Given the description of an element on the screen output the (x, y) to click on. 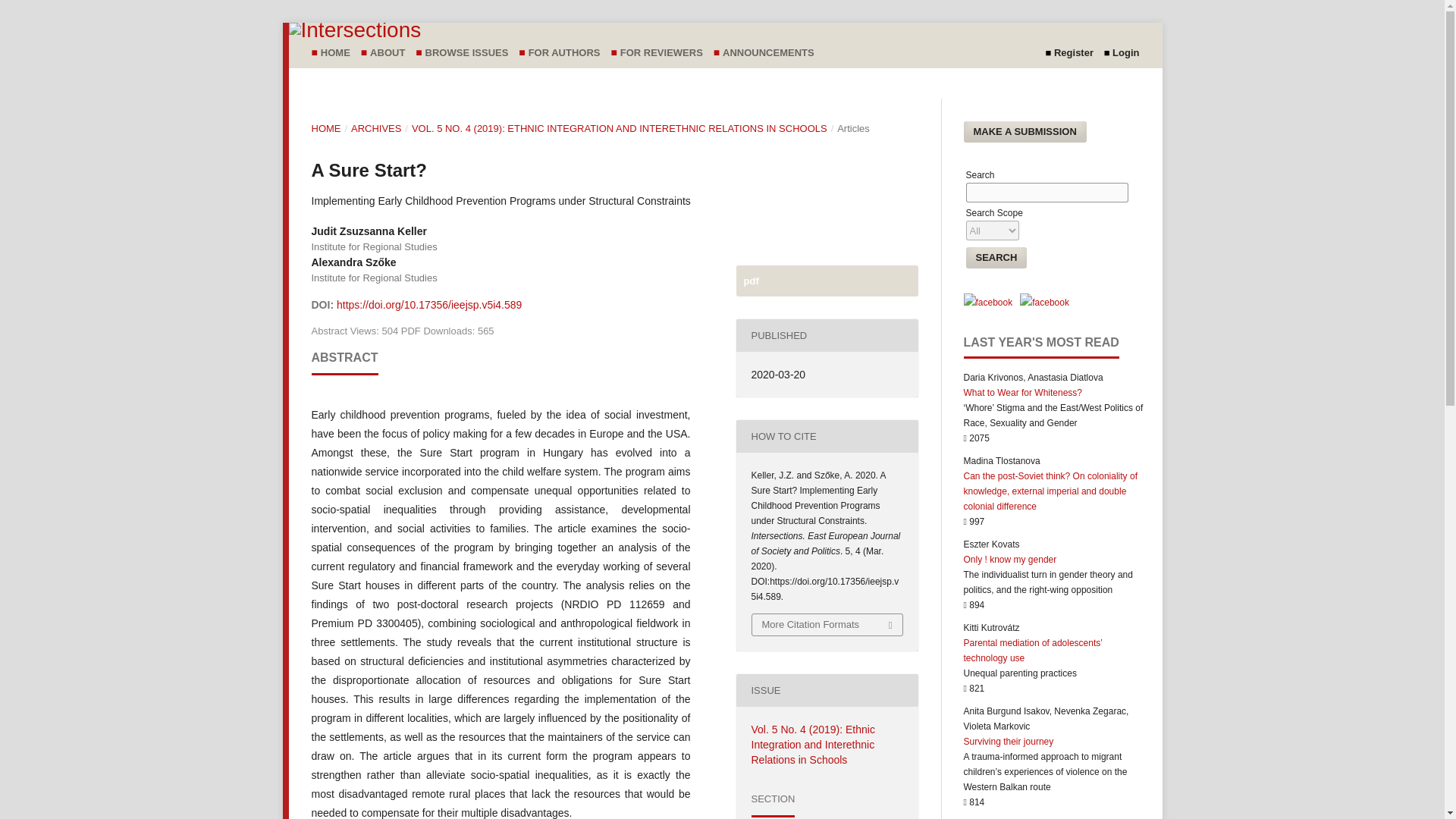
MAKE A SUBMISSION (1024, 131)
ANNOUNCEMENTS (772, 52)
ARCHIVES (375, 128)
More Citation Formats (827, 624)
HOME (339, 52)
pdf (826, 280)
BROWSE ISSUES (470, 52)
ieejsp facebook (986, 302)
FOR AUTHORS (568, 52)
Login (1125, 52)
